Given the description of an element on the screen output the (x, y) to click on. 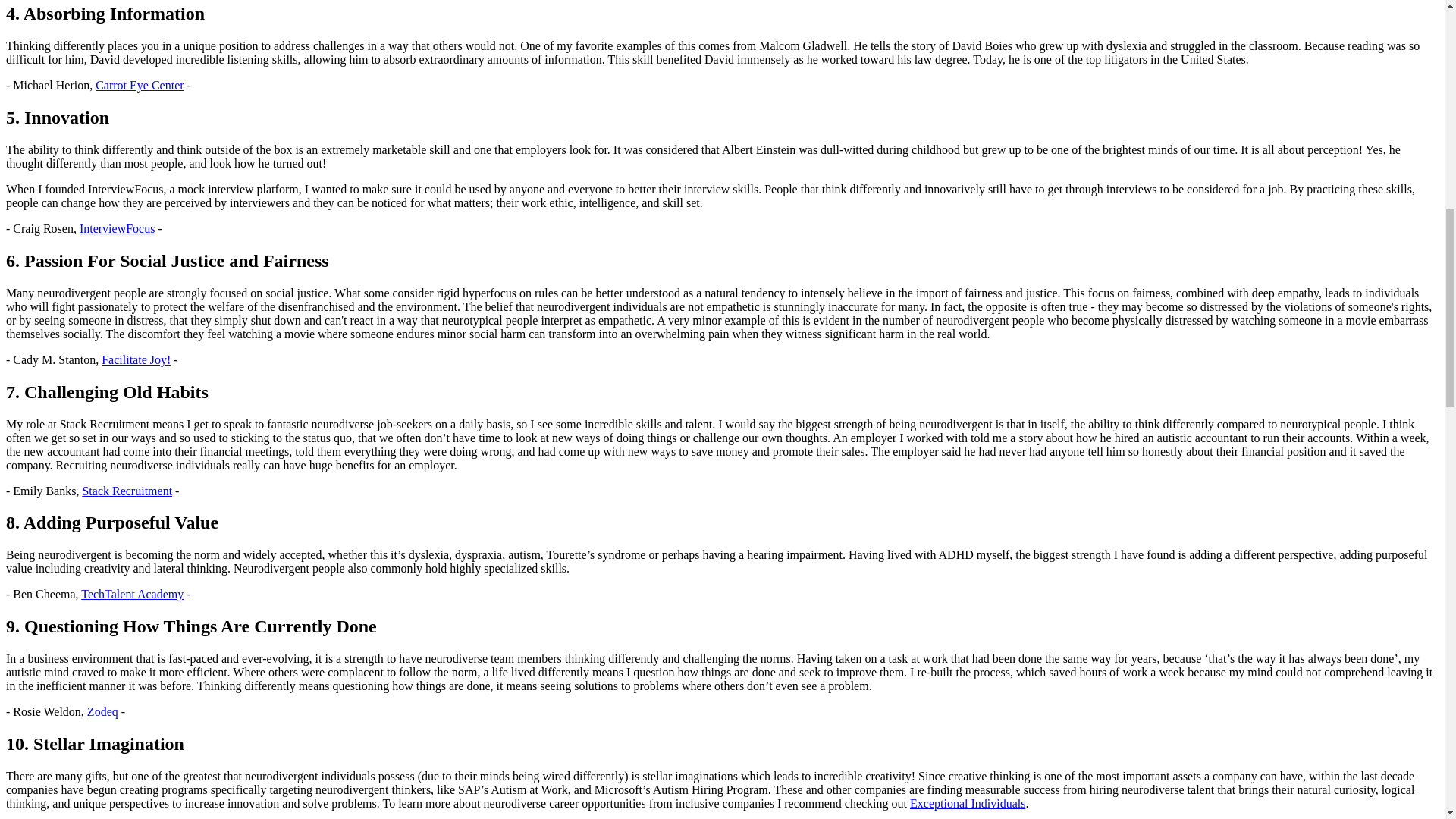
Stack Recruitment (126, 490)
TechTalent Academy (132, 594)
Zodeq (102, 711)
Facilitate Joy! (135, 359)
Carrot Eye Center (139, 84)
Exceptional Individuals (967, 802)
InterviewFocus (117, 228)
